Given the description of an element on the screen output the (x, y) to click on. 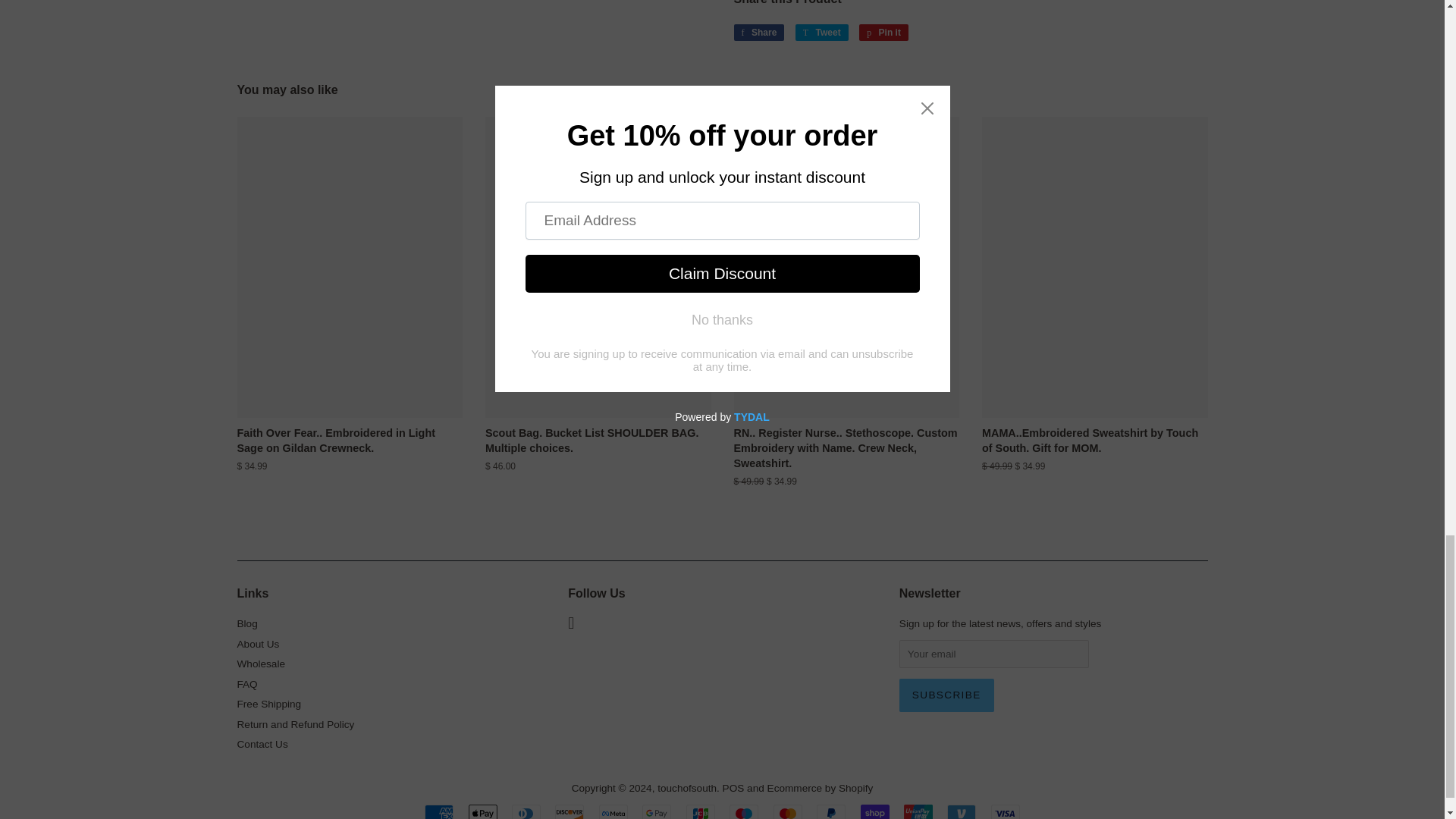
Apple Pay (482, 811)
Tweet on Twitter (821, 32)
PayPal (830, 811)
Union Pay (918, 811)
JCB (699, 811)
Visa (1005, 811)
American Express (438, 811)
Google Pay (656, 811)
Subscribe (946, 694)
Share on Facebook (758, 32)
Maestro (743, 811)
Meta Pay (612, 811)
Shop Pay (874, 811)
Diners Club (526, 811)
Discover (568, 811)
